Given the description of an element on the screen output the (x, y) to click on. 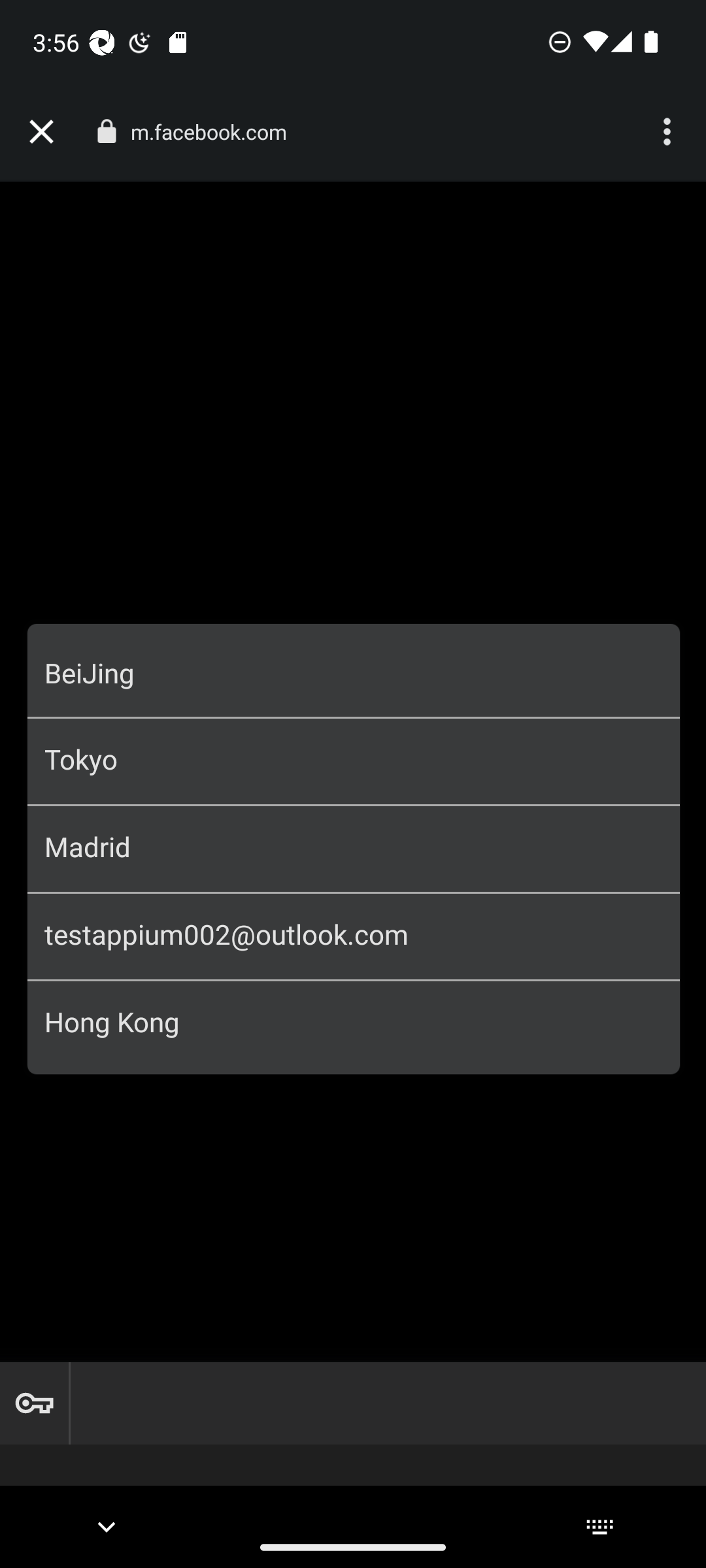
Close tab (41, 131)
More options (669, 131)
Connection is secure (106, 131)
m.facebook.com (215, 131)
Entrar (354, 754)
Show passwords (34, 1403)
